Given the description of an element on the screen output the (x, y) to click on. 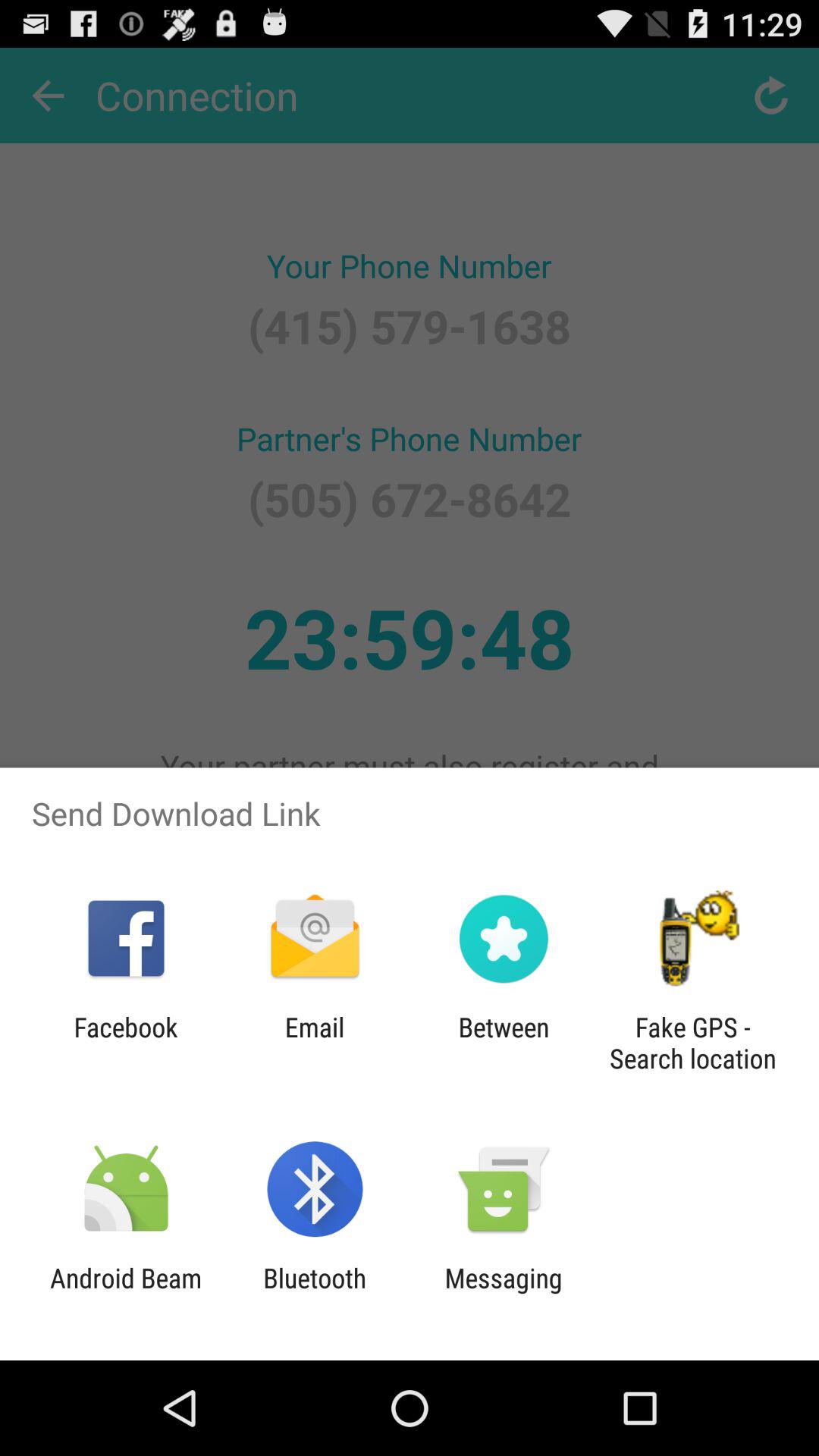
swipe to email (314, 1042)
